Given the description of an element on the screen output the (x, y) to click on. 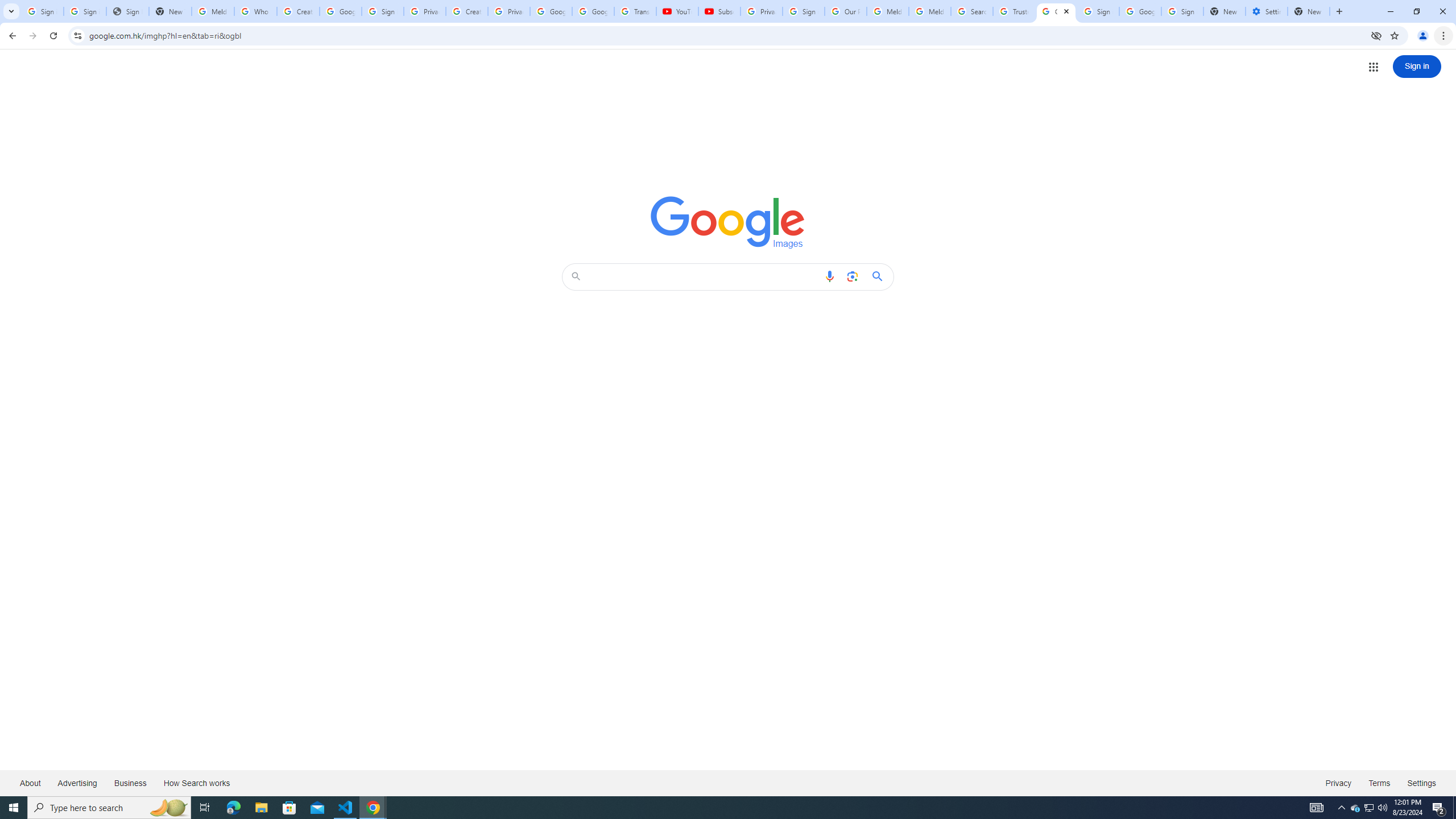
Who is my administrator? - Google Account Help (255, 11)
Sign in - Google Accounts (42, 11)
Close (1066, 11)
Subscriptions - YouTube (719, 11)
Forward (32, 35)
Google Images (727, 222)
Settings (1421, 782)
Sign In - USA TODAY (127, 11)
Privacy (1337, 782)
Google apps (1373, 66)
Sign in - Google Accounts (803, 11)
New Tab (1308, 11)
Search our Doodle Library Collection - Google Doodles (972, 11)
